Given the description of an element on the screen output the (x, y) to click on. 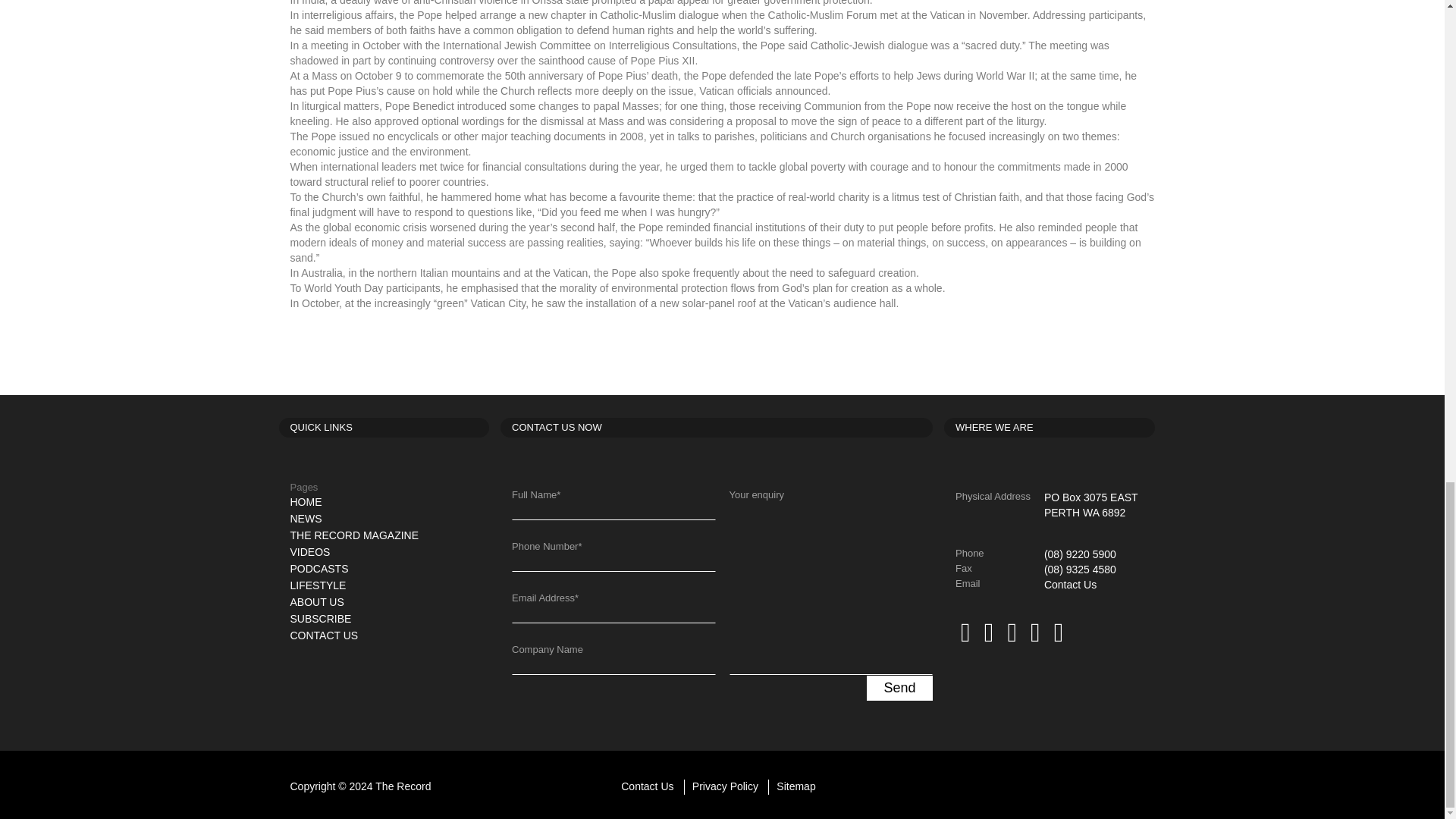
Our Instagram page (1056, 632)
Our Twitter page (988, 632)
Send (899, 688)
Our Youtube page (1035, 632)
Our Facebook page (965, 632)
Our Linked In page (1011, 632)
